Given the description of an element on the screen output the (x, y) to click on. 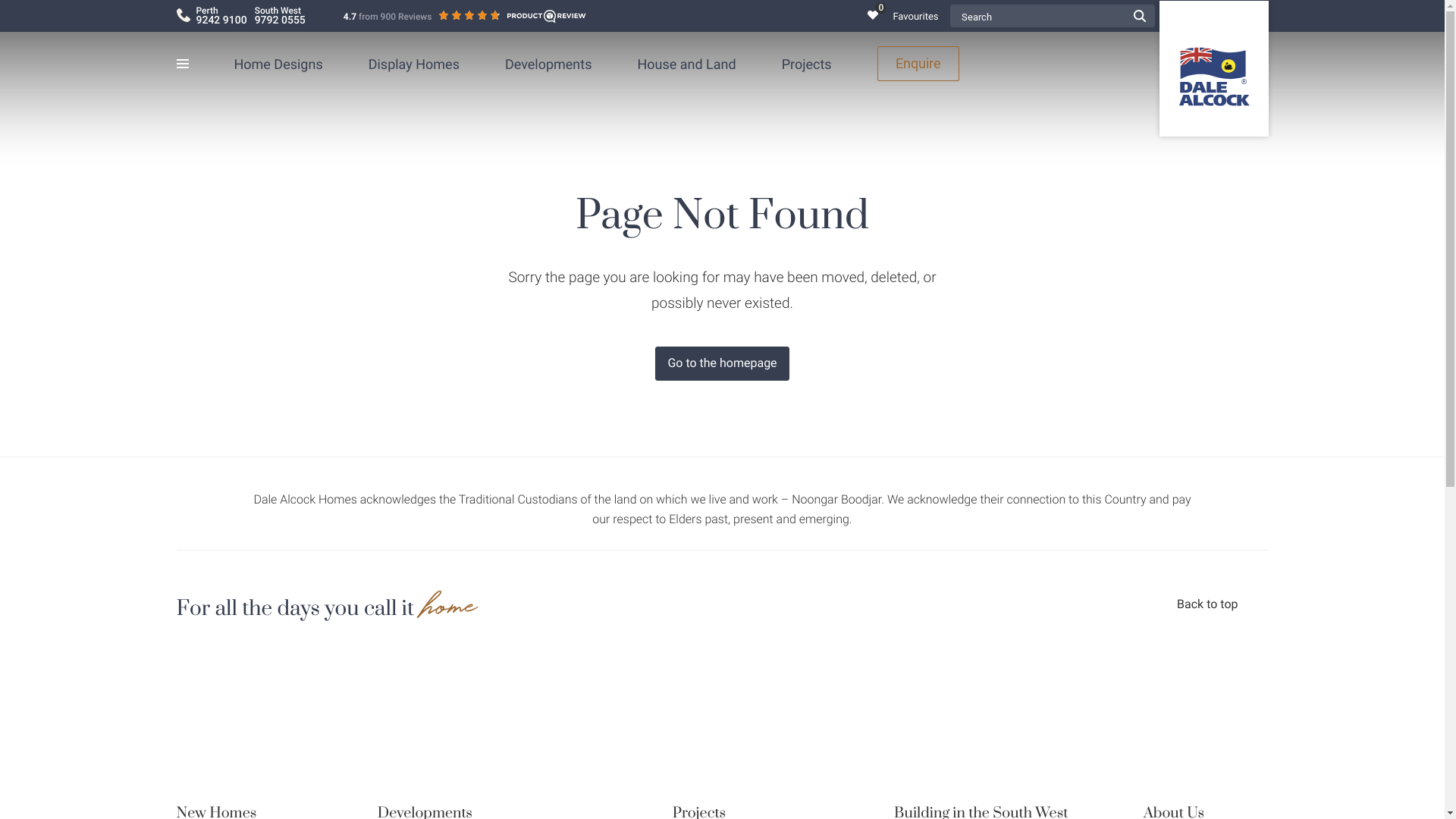
House and Land Element type: text (686, 63)
Go to the homepage Element type: text (721, 362)
Dale Alcock Homes Pty Ltd BC 7309 Element type: text (1212, 68)
Projects Element type: text (806, 63)
Heart shaped icon
0
Favourites Element type: text (908, 15)
Back to top Element type: text (1221, 609)
Display Homes Element type: text (413, 63)
4.7
out of 5 stars
from 900 Reviews
on productreview.com.au Element type: text (464, 16)
South West
9792 0555 Element type: text (279, 15)
Developments Element type: text (548, 63)
Enquire Element type: text (918, 63)
Seach maginfying glass
Submit Search form Element type: text (1138, 15)
Home Designs Element type: text (277, 63)
Perth
9242 9100 Element type: text (220, 15)
Toggle Mobile Menu Element type: text (191, 63)
